Given the description of an element on the screen output the (x, y) to click on. 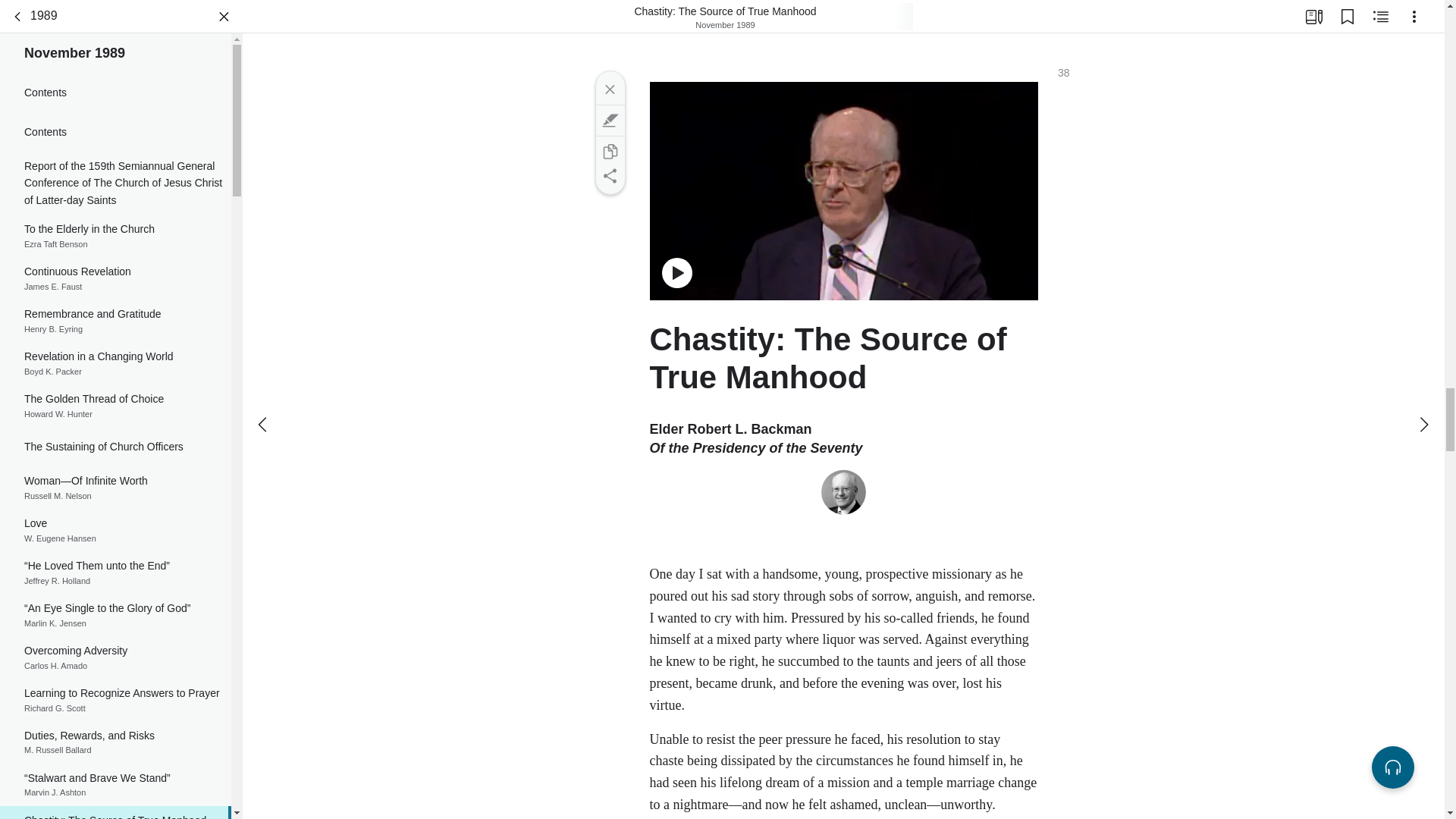
Bookmarks (115, 806)
Mark (115, 645)
Close (1347, 11)
Contents (115, 688)
Table of Contents (608, 120)
